Given the description of an element on the screen output the (x, y) to click on. 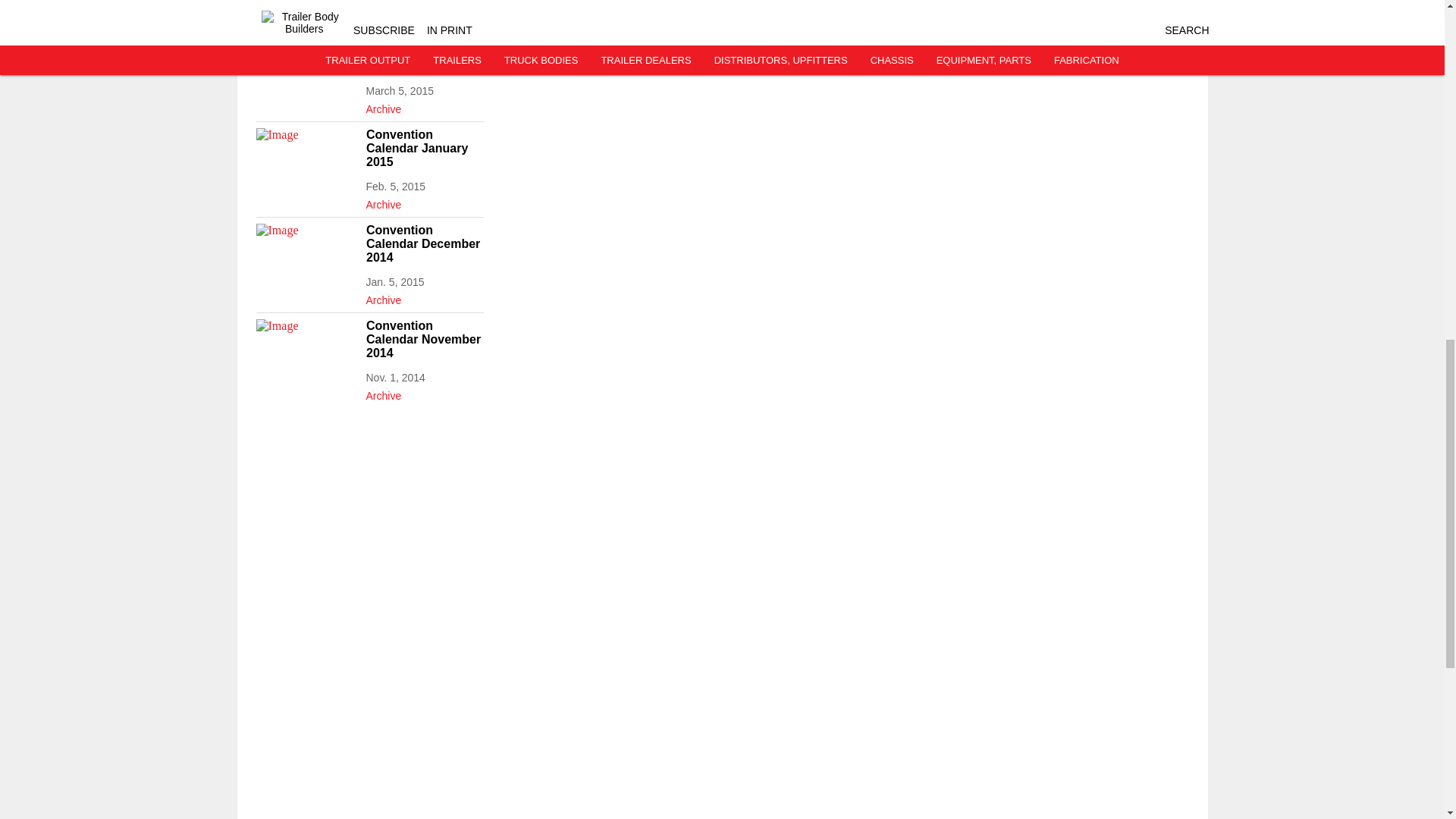
Convention Calendar December 2014 (424, 243)
Archive (424, 297)
Image (307, 156)
Convention Calendar January 2015 (424, 147)
Convention Calendar November 2014 (424, 339)
Image (307, 347)
Archive (424, 106)
Image (307, 60)
Archive (424, 10)
Archive (424, 393)
